Given the description of an element on the screen output the (x, y) to click on. 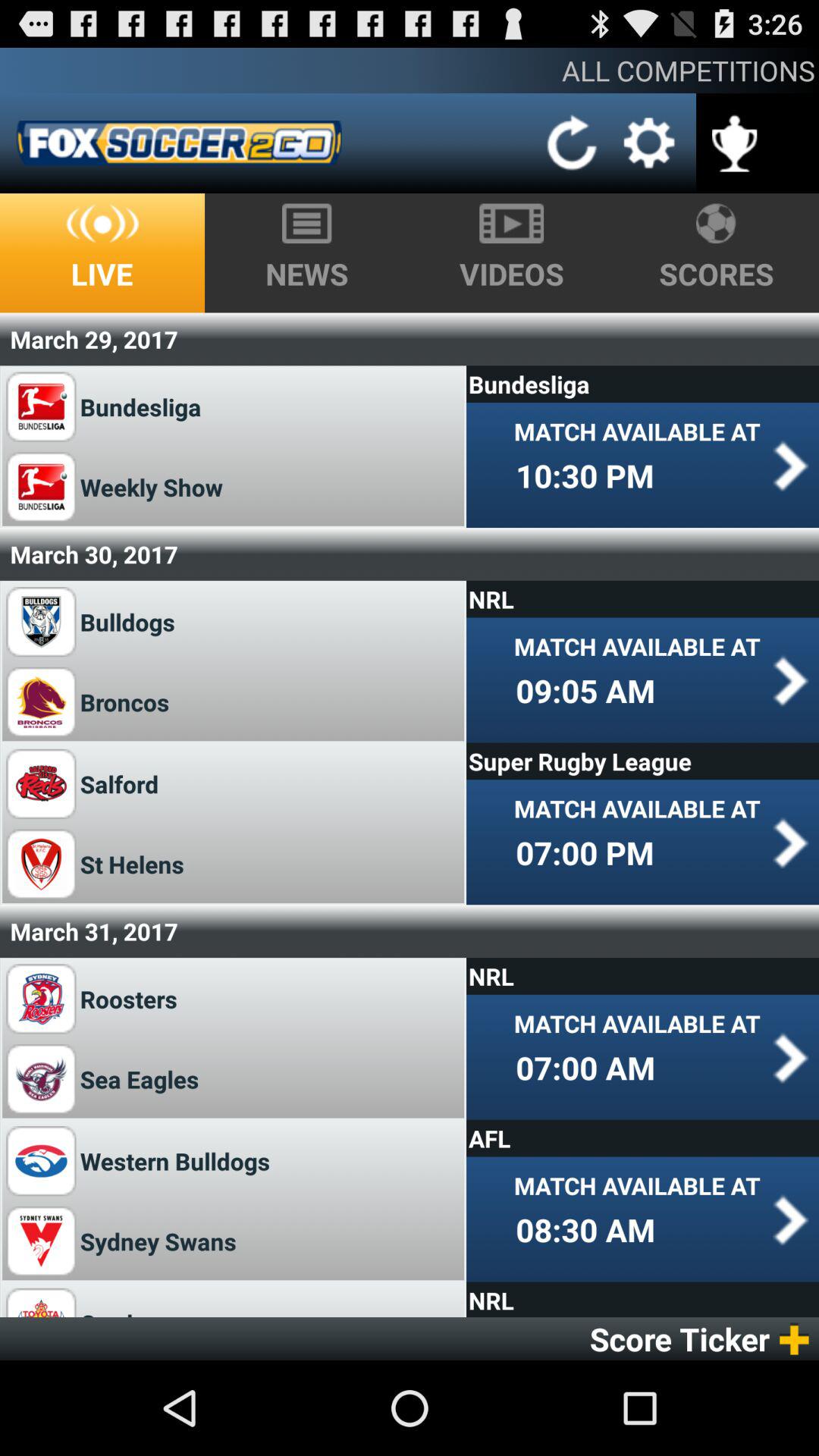
select the salford app (119, 783)
